Given the description of an element on the screen output the (x, y) to click on. 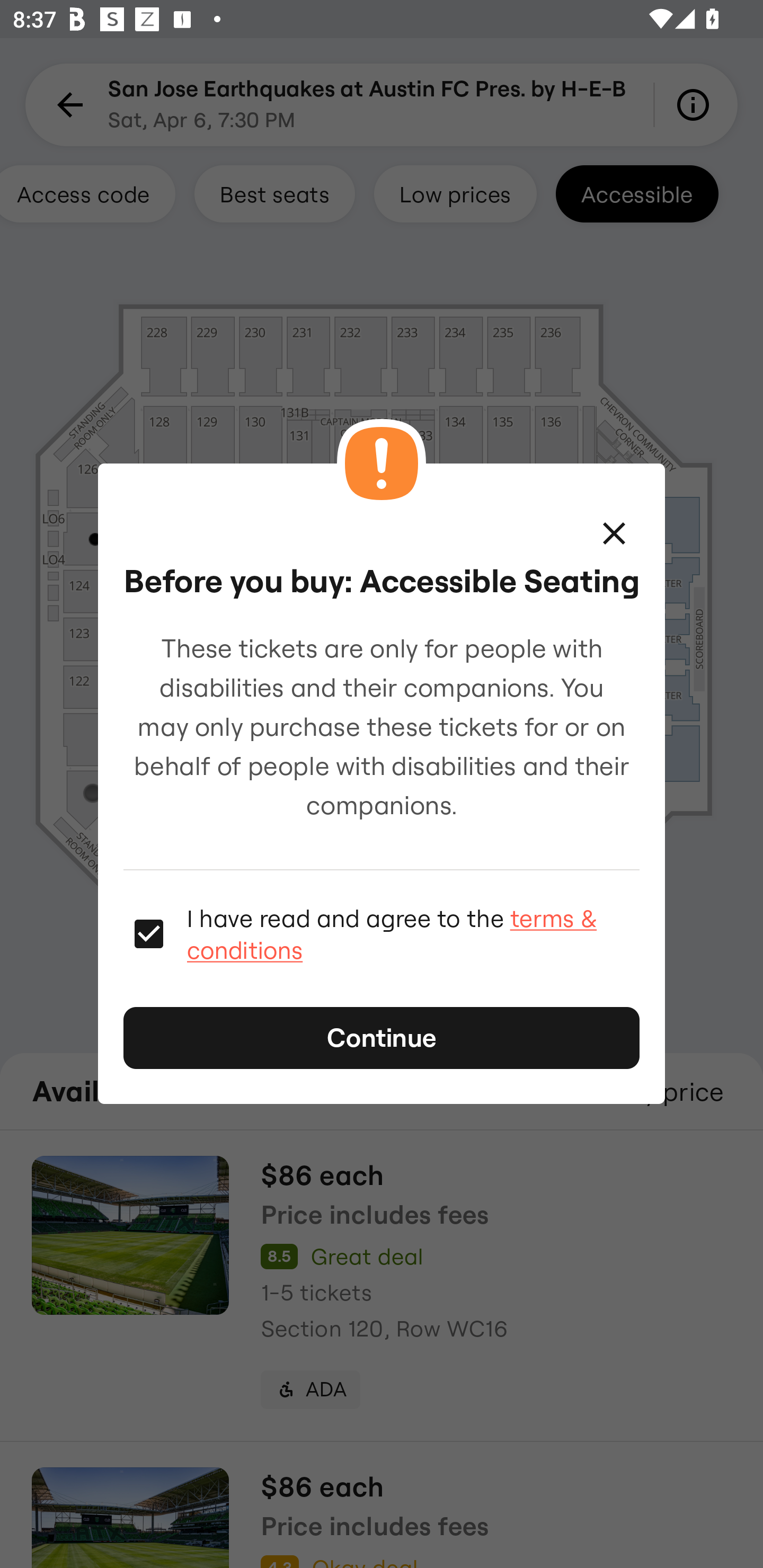
Close this modal (614, 533)
I have read and agree to the terms & conditions (412, 933)
Continue (381, 1037)
